Given the description of an element on the screen output the (x, y) to click on. 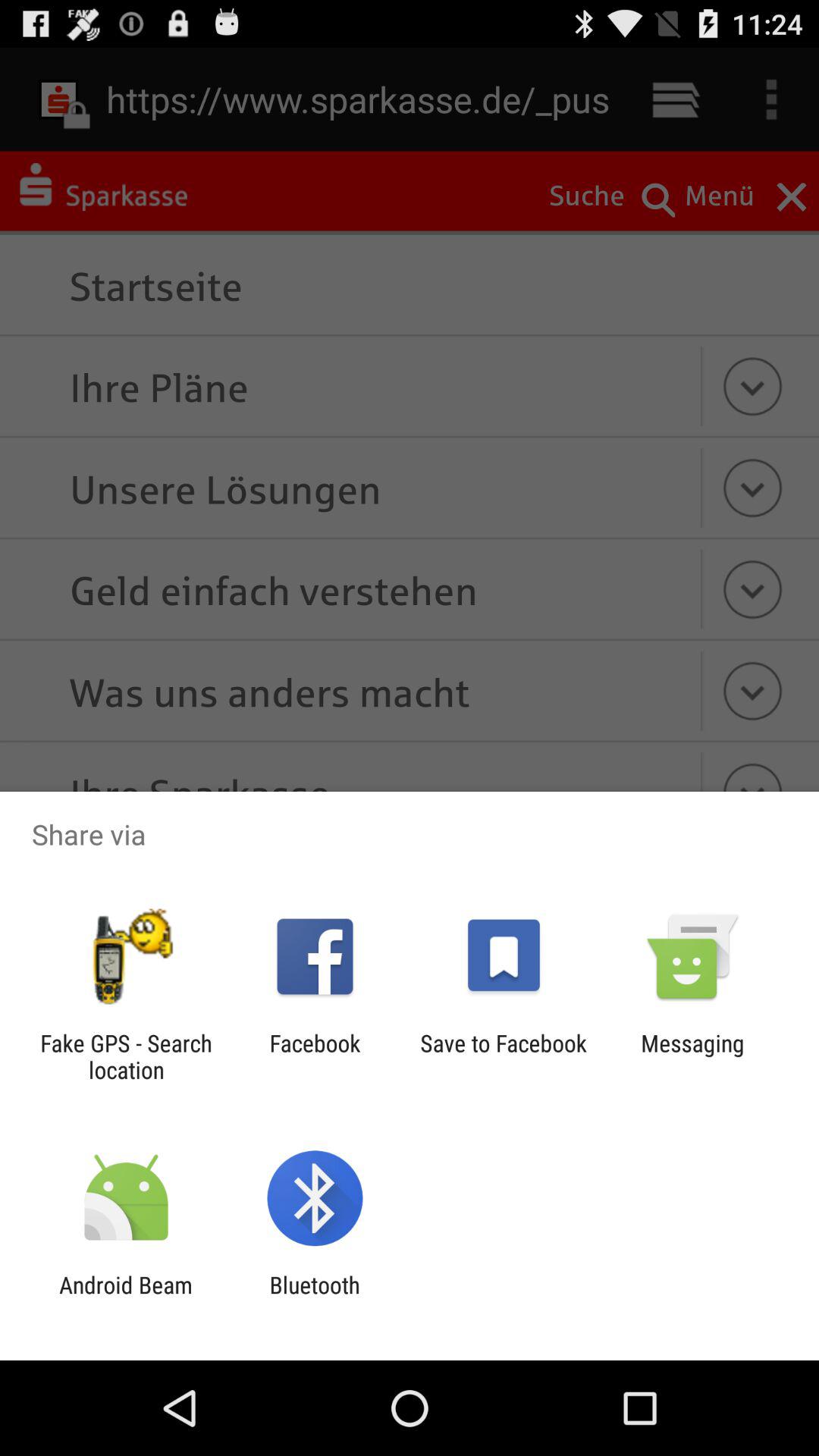
scroll to the bluetooth (314, 1298)
